Given the description of an element on the screen output the (x, y) to click on. 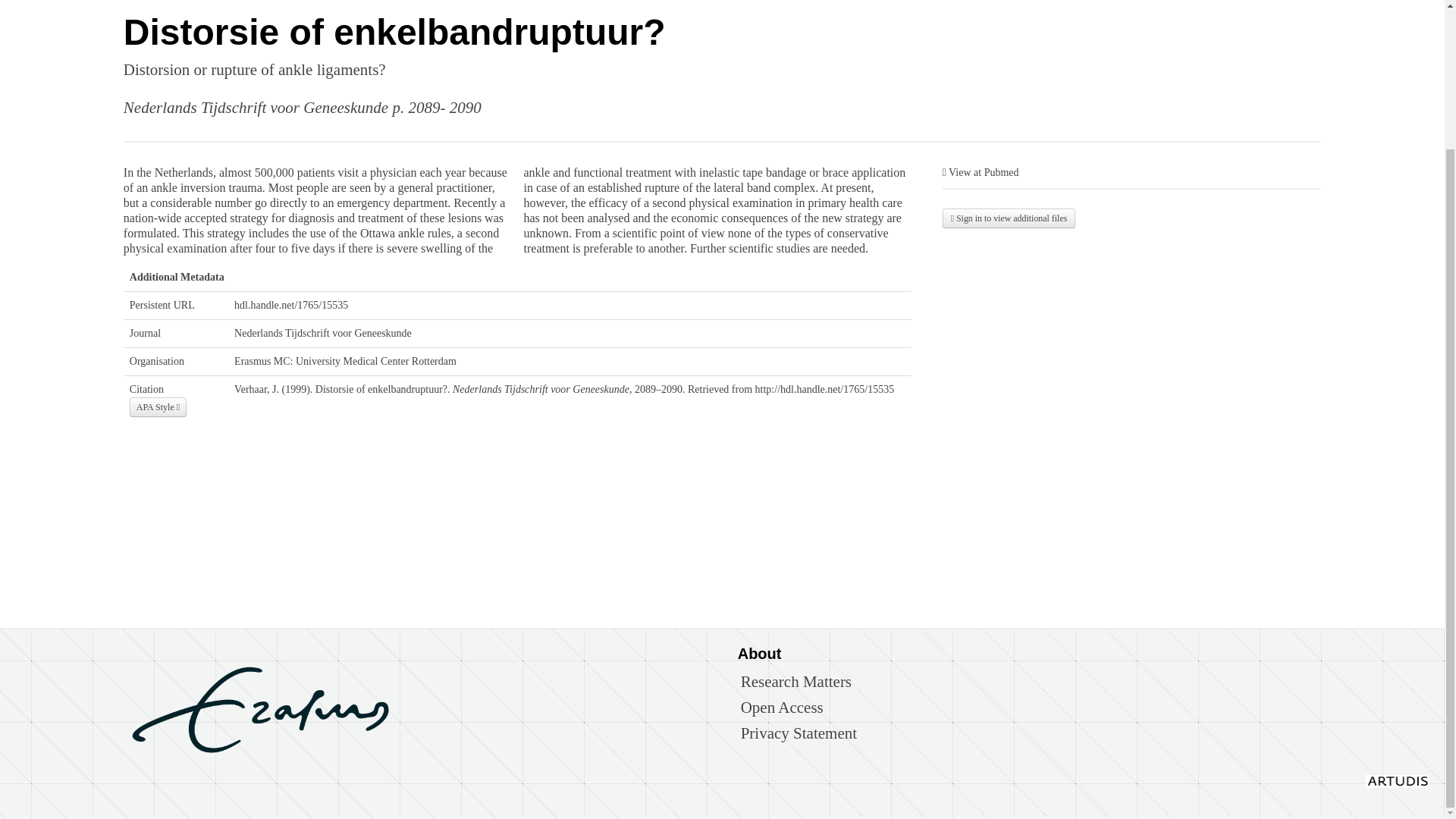
Nederlands Tijdschrift voor Geneeskunde (323, 333)
Erasmus MC: University Medical Center Rotterdam (345, 360)
Nederlands Tijdschrift voor Geneeskunde (255, 107)
APA Style (157, 406)
